Given the description of an element on the screen output the (x, y) to click on. 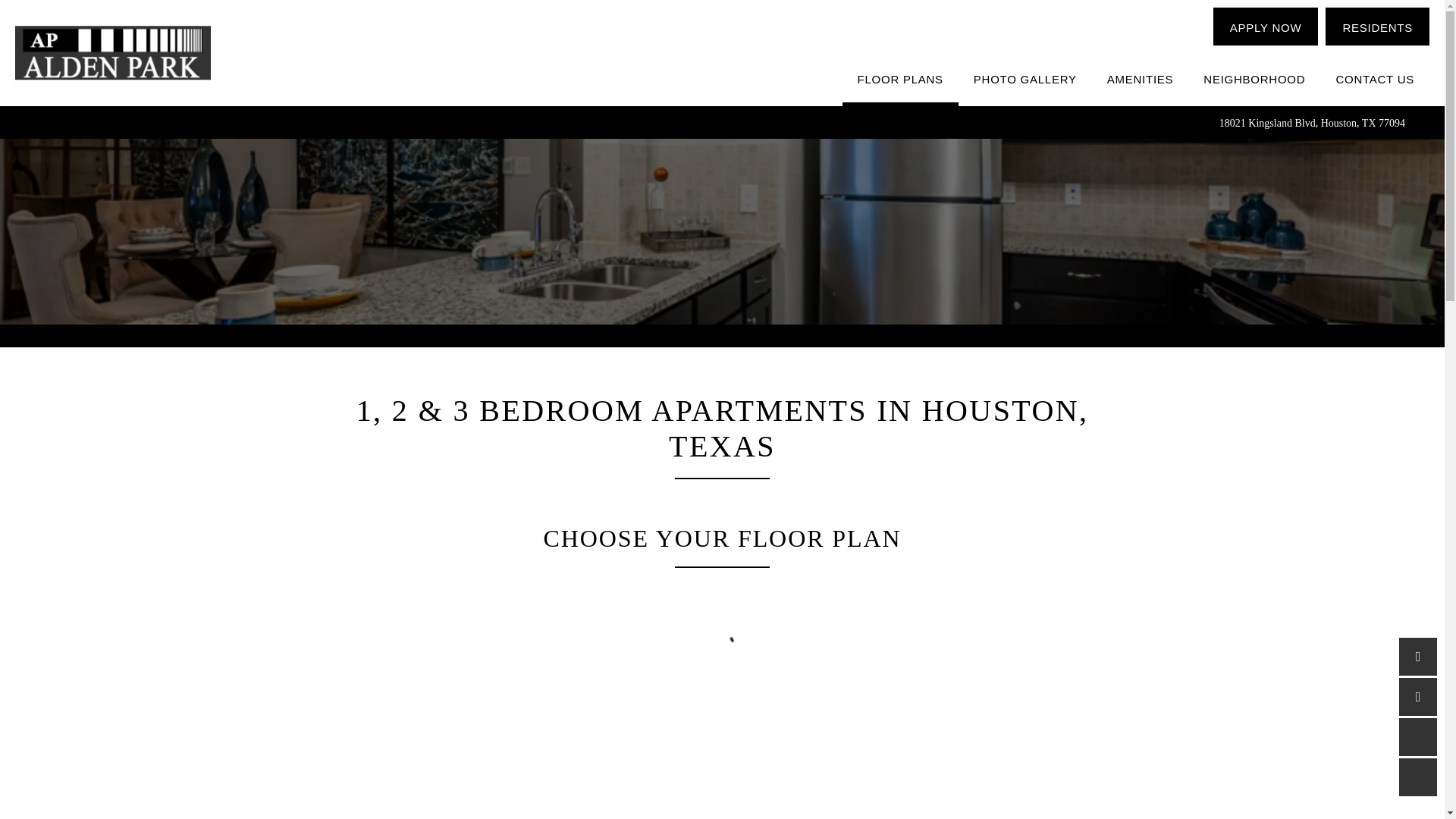
RESIDENTS (1376, 26)
Scroll Down (1418, 777)
AMENITIES (1140, 79)
Email (1418, 696)
NEIGHBORHOOD (1254, 79)
FLOOR PLANS (900, 79)
PHOTO GALLERY (1025, 79)
CONTACT US (1374, 79)
Phone Number (1418, 656)
APPLY NOW (1265, 26)
